Given the description of an element on the screen output the (x, y) to click on. 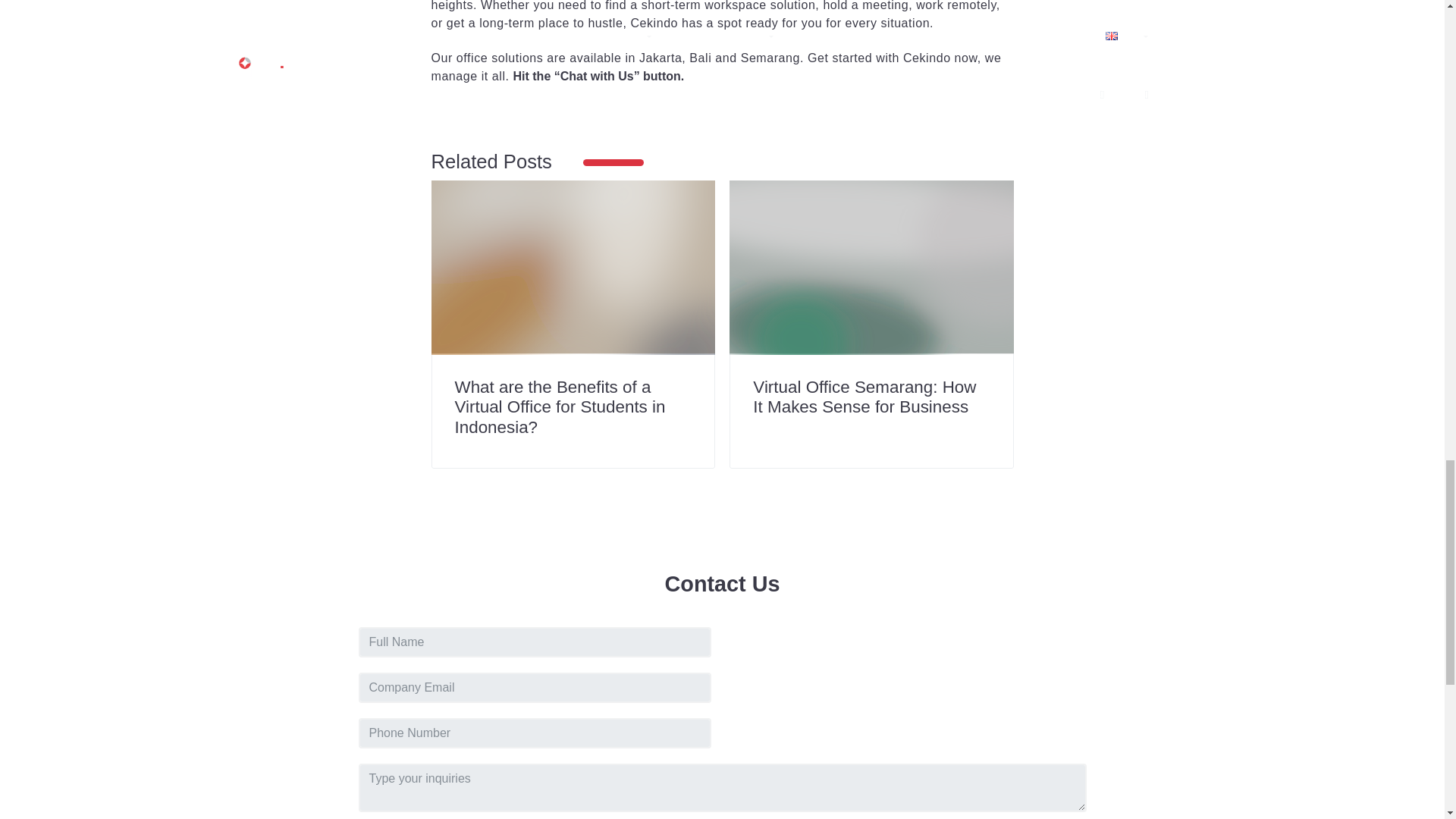
Virtual Office Semarang: How It Makes Sense for Business (863, 396)
Virtual Office Semarang: How It Makes Sense for Business (863, 396)
Virtual Office Semarang: How It Makes Sense for Business (871, 266)
